Given the description of an element on the screen output the (x, y) to click on. 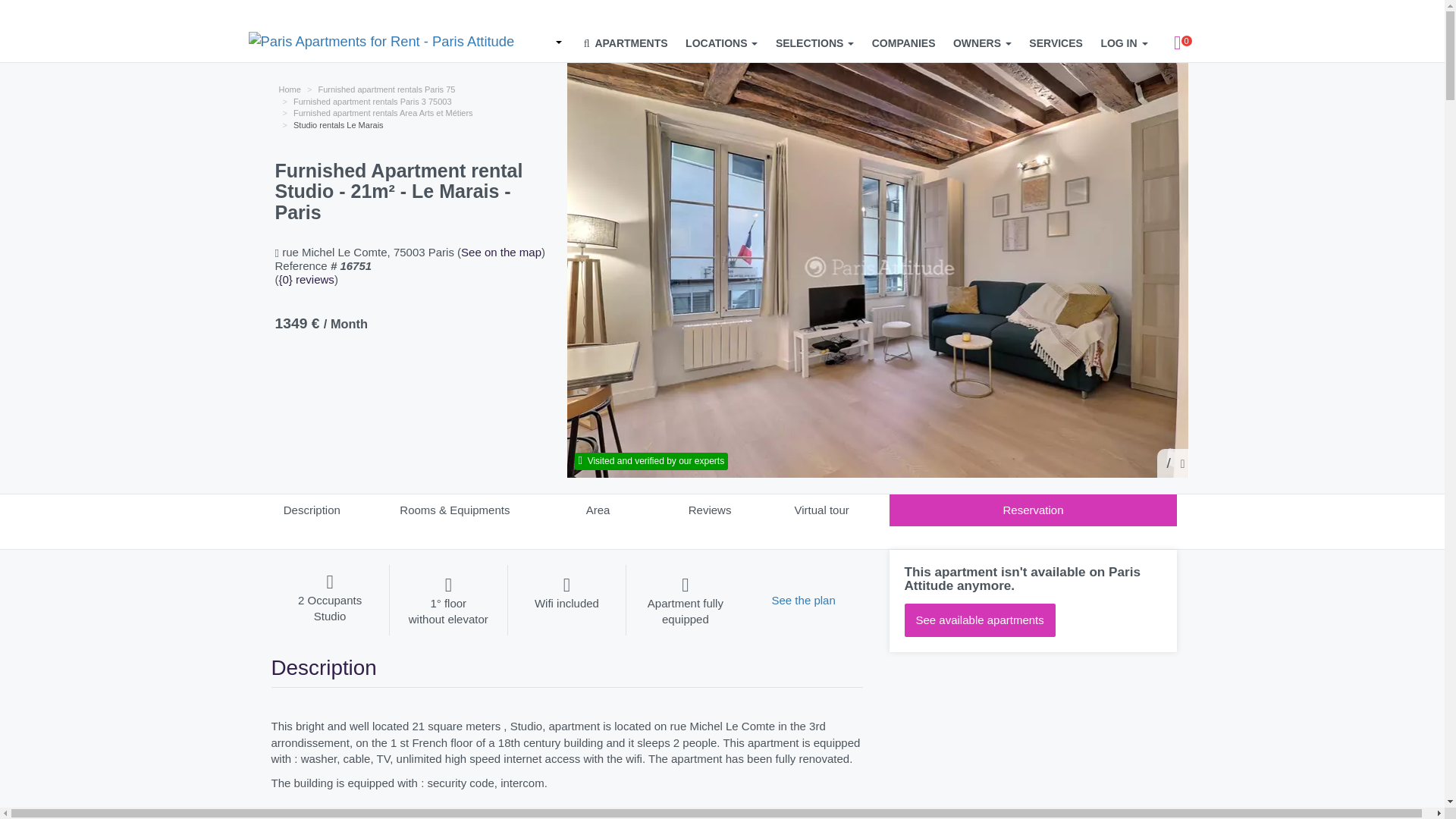
0 (1177, 43)
APARTMENTS (625, 43)
LOCATIONS (721, 43)
